Given the description of an element on the screen output the (x, y) to click on. 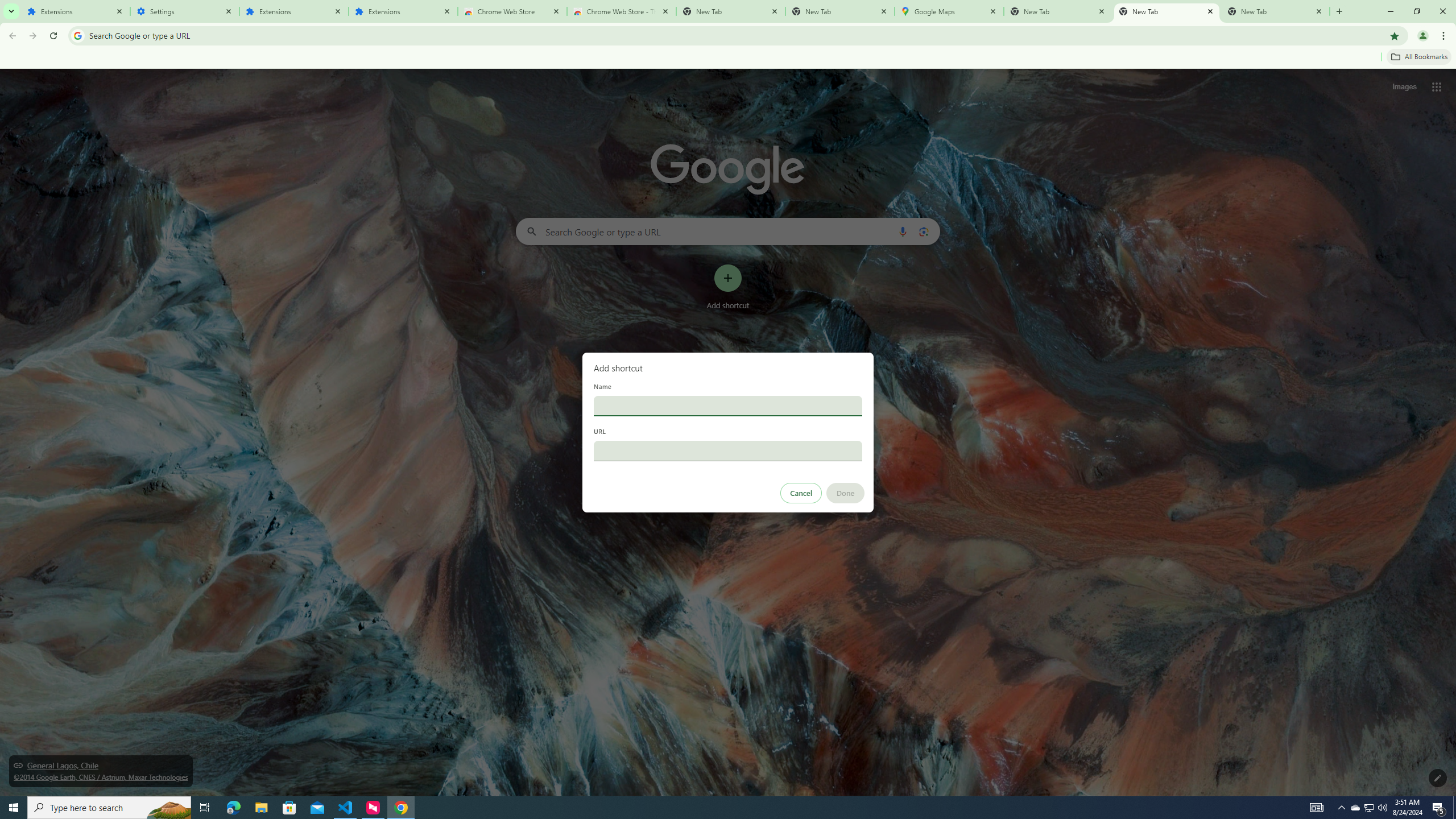
Extensions (403, 11)
Extensions (293, 11)
Name (727, 405)
Settings (184, 11)
Extensions (75, 11)
Bookmarks (728, 58)
Cancel (801, 493)
Chrome Web Store (512, 11)
